Given the description of an element on the screen output the (x, y) to click on. 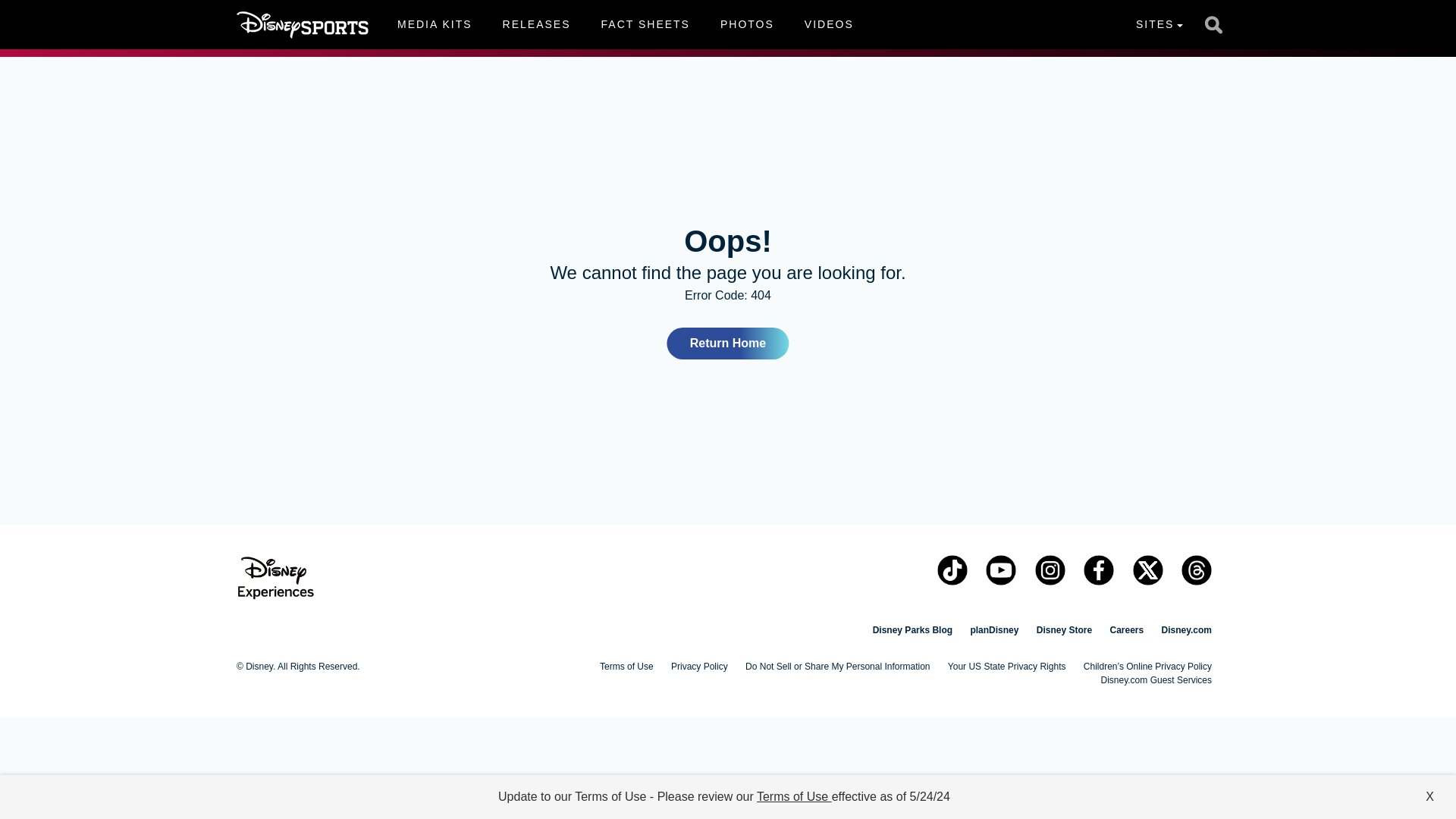
PHOTOS (746, 24)
VIDEOS (828, 24)
MEDIA KITS (625, 24)
Return Home (434, 24)
FACT SHEETS (727, 343)
Skip to content (645, 24)
RELEASES (40, 8)
SITES (537, 24)
Disney Store (1159, 24)
